Given the description of an element on the screen output the (x, y) to click on. 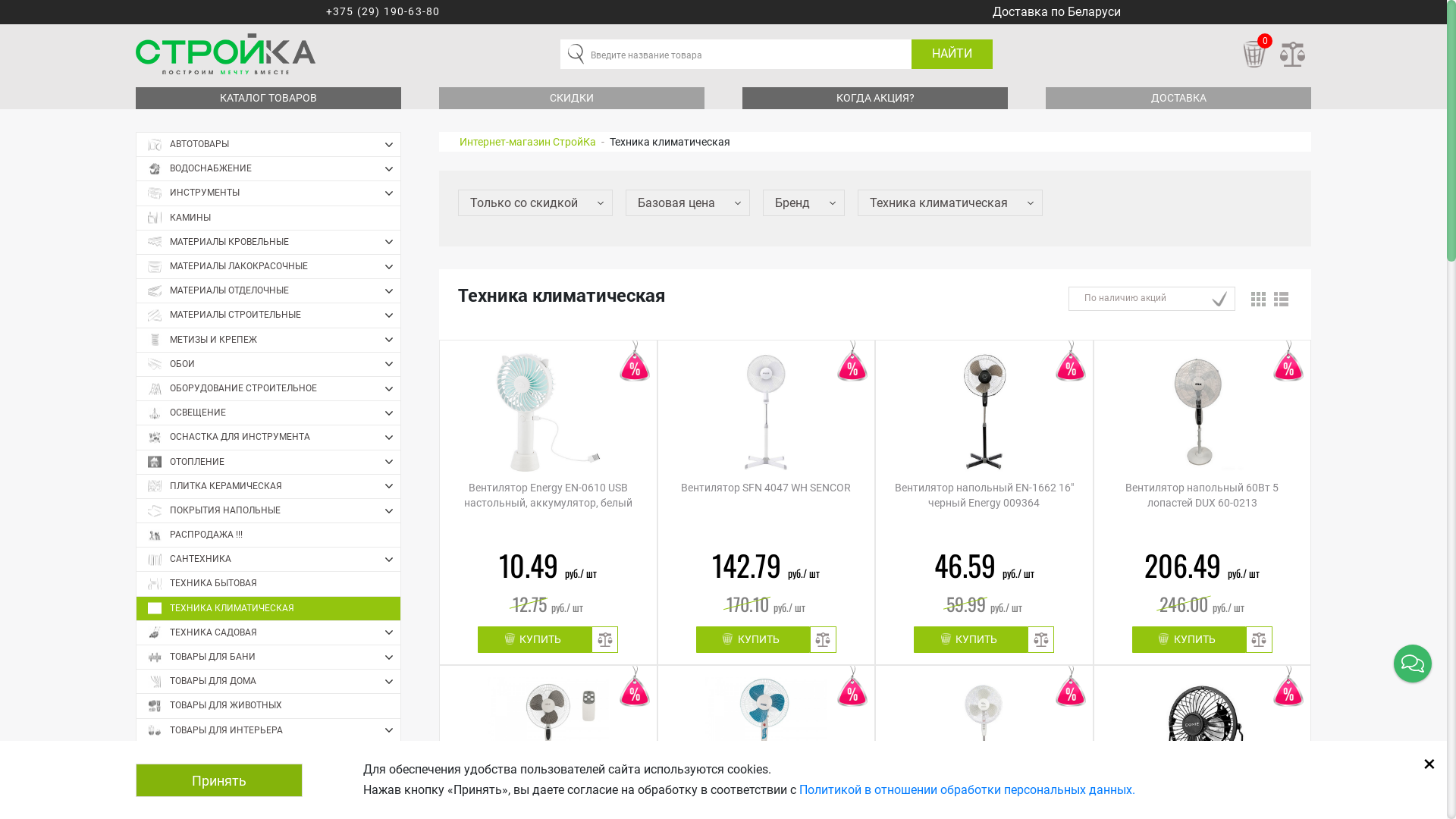
      Element type: text (1303, 11)
2 Element type: text (521, 798)
      Element type: text (143, 11)
3 Element type: text (547, 798)
1 Element type: text (497, 798)
0 Element type: text (1255, 53)
+375 (29) 190-63-80 Element type: text (383, 11)
2 Element type: text (522, 798)
3 Element type: text (546, 798)
